Given the description of an element on the screen output the (x, y) to click on. 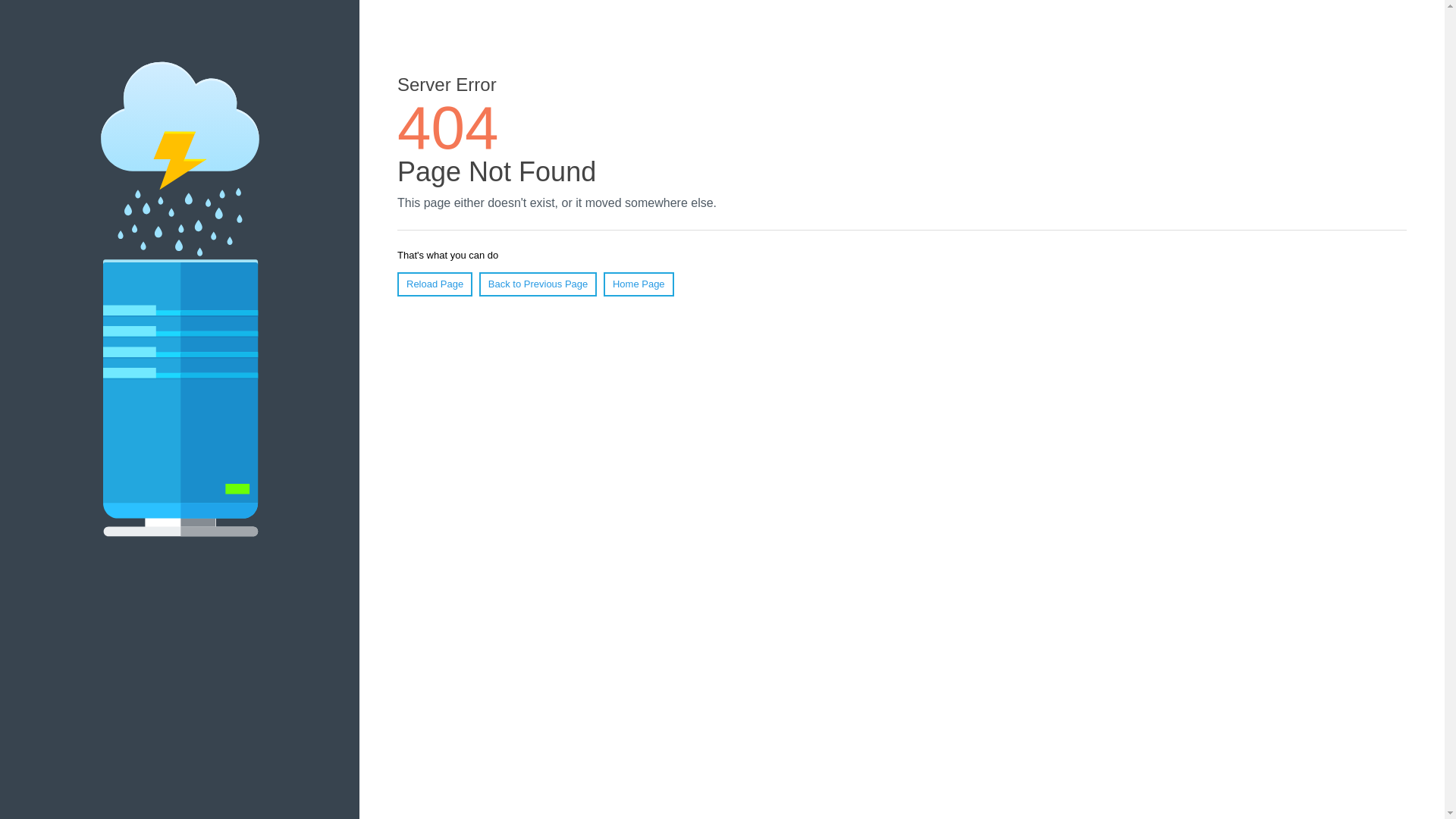
Home Page (639, 283)
Reload Page (434, 283)
Back to Previous Page (537, 283)
